Given the description of an element on the screen output the (x, y) to click on. 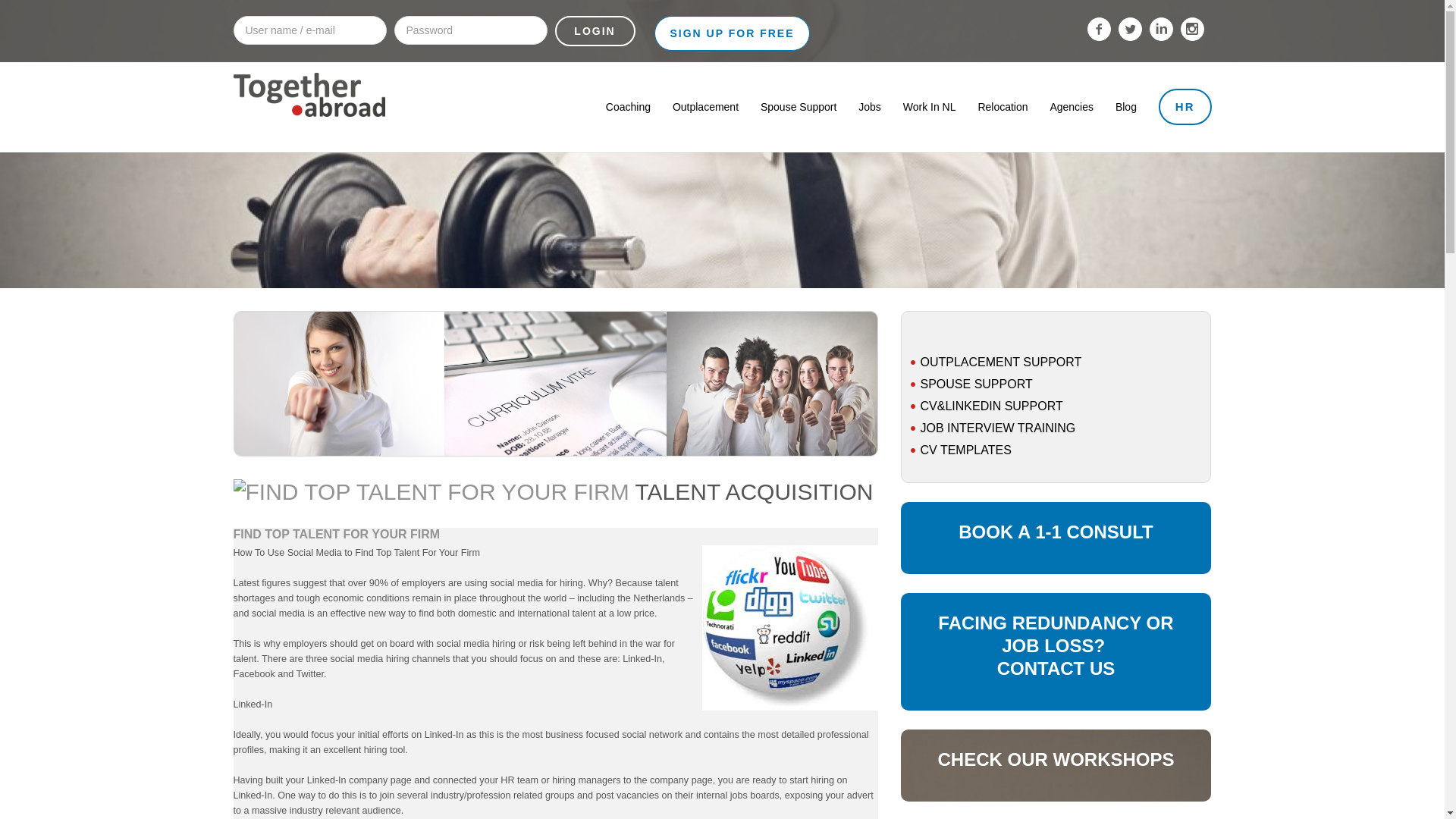
Together Abroad (308, 123)
Outplacement (705, 106)
Work in NL (929, 106)
Jobs (869, 106)
Spouse Support (797, 106)
Outplacement (705, 106)
Relocation (1001, 106)
Coaching (627, 106)
Login (594, 30)
Agencies (1071, 106)
